Given the description of an element on the screen output the (x, y) to click on. 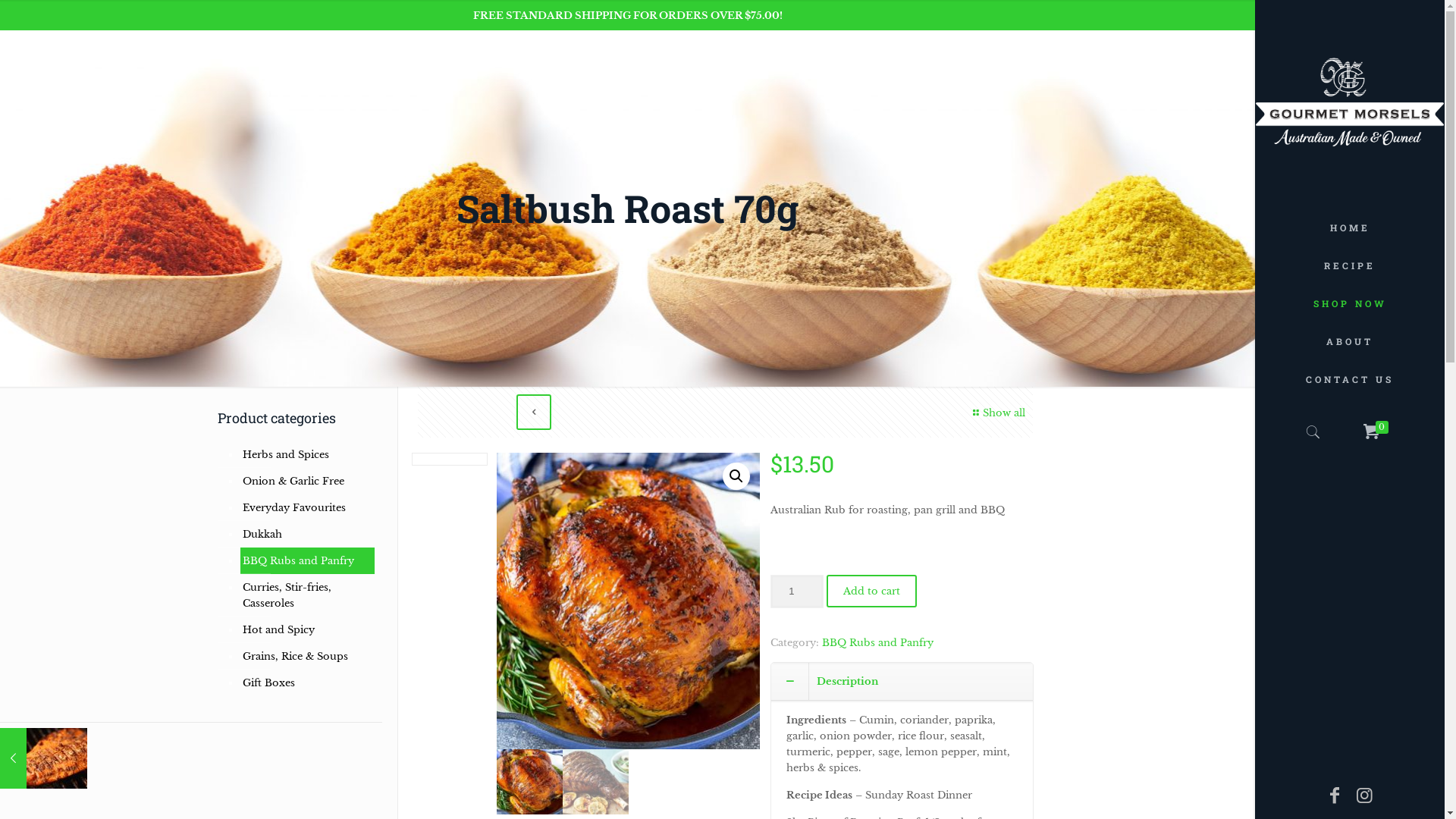
Show all Element type: text (997, 412)
CONTACT US Element type: text (1349, 379)
SHOP NOW Element type: text (1349, 303)
Dukkah Element type: text (306, 533)
RECIPE Element type: text (1349, 265)
Instagram Element type: hover (1364, 795)
Add to cart Element type: text (871, 590)
Herbs and Spices Element type: text (306, 454)
Facebook Element type: hover (612, 792)
ABOUT Element type: text (1349, 341)
HOME Element type: text (1349, 227)
Send a message Element type: text (766, 648)
Qty Element type: hover (796, 591)
Fmeaddons Element type: text (616, 548)
Facebook Element type: hover (1334, 795)
Onion & Garlic Free Element type: text (306, 480)
Instagram Element type: hover (642, 792)
BBQ Rubs and Panfry Element type: text (306, 560)
Gift Boxes Element type: text (306, 682)
BBQ Rubs and Panfry Element type: text (877, 642)
Grains, Rice & Soups Element type: text (306, 656)
Curries, Stir-fries, Casseroles Element type: text (306, 595)
0 Element type: text (1376, 432)
Gourmet Morsels Element type: hover (1349, 104)
Everyday Favourites Element type: text (306, 507)
Hot and Spicy Element type: text (306, 629)
